Given the description of an element on the screen output the (x, y) to click on. 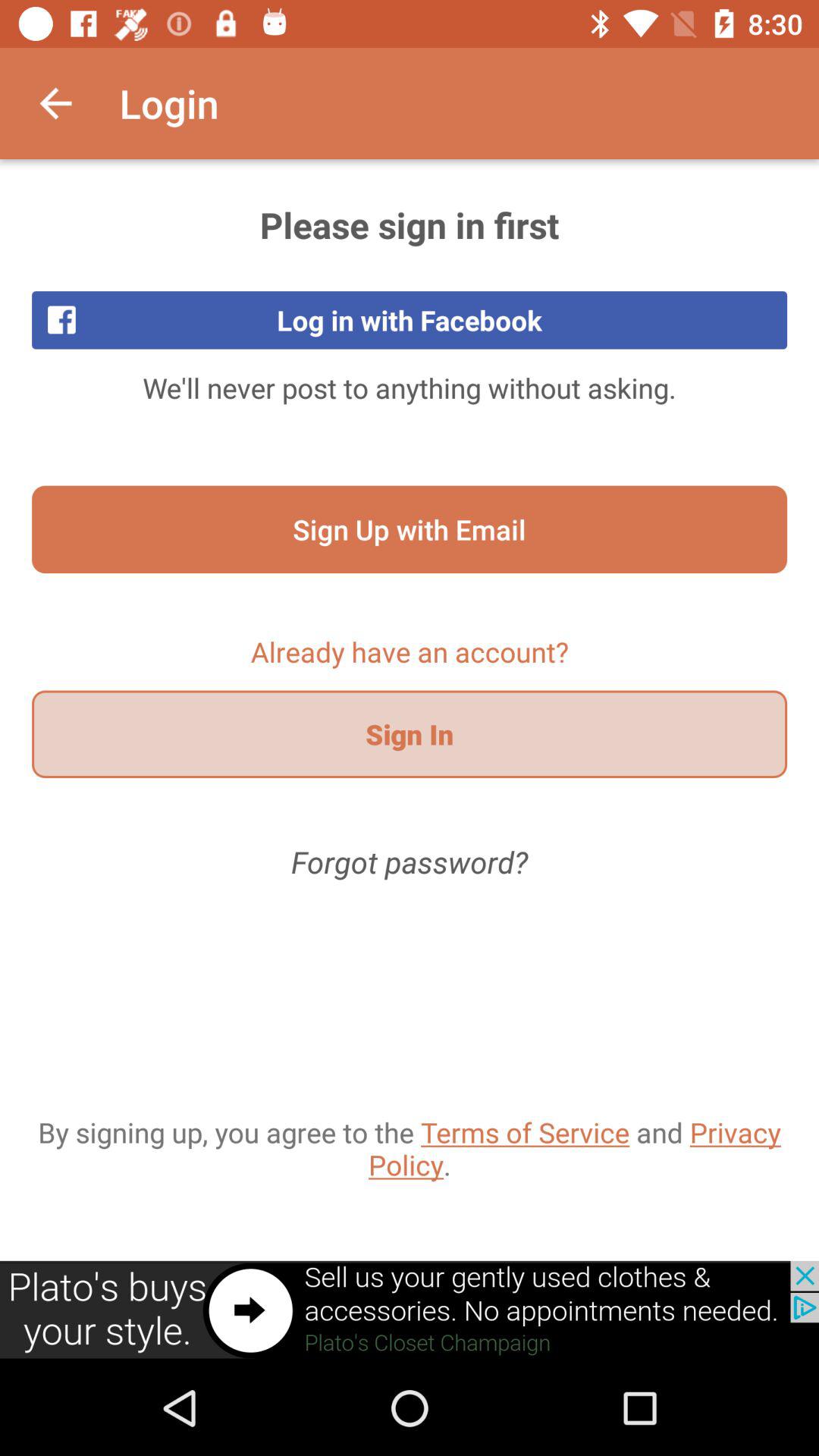
click to view advertisement (409, 1310)
